Given the description of an element on the screen output the (x, y) to click on. 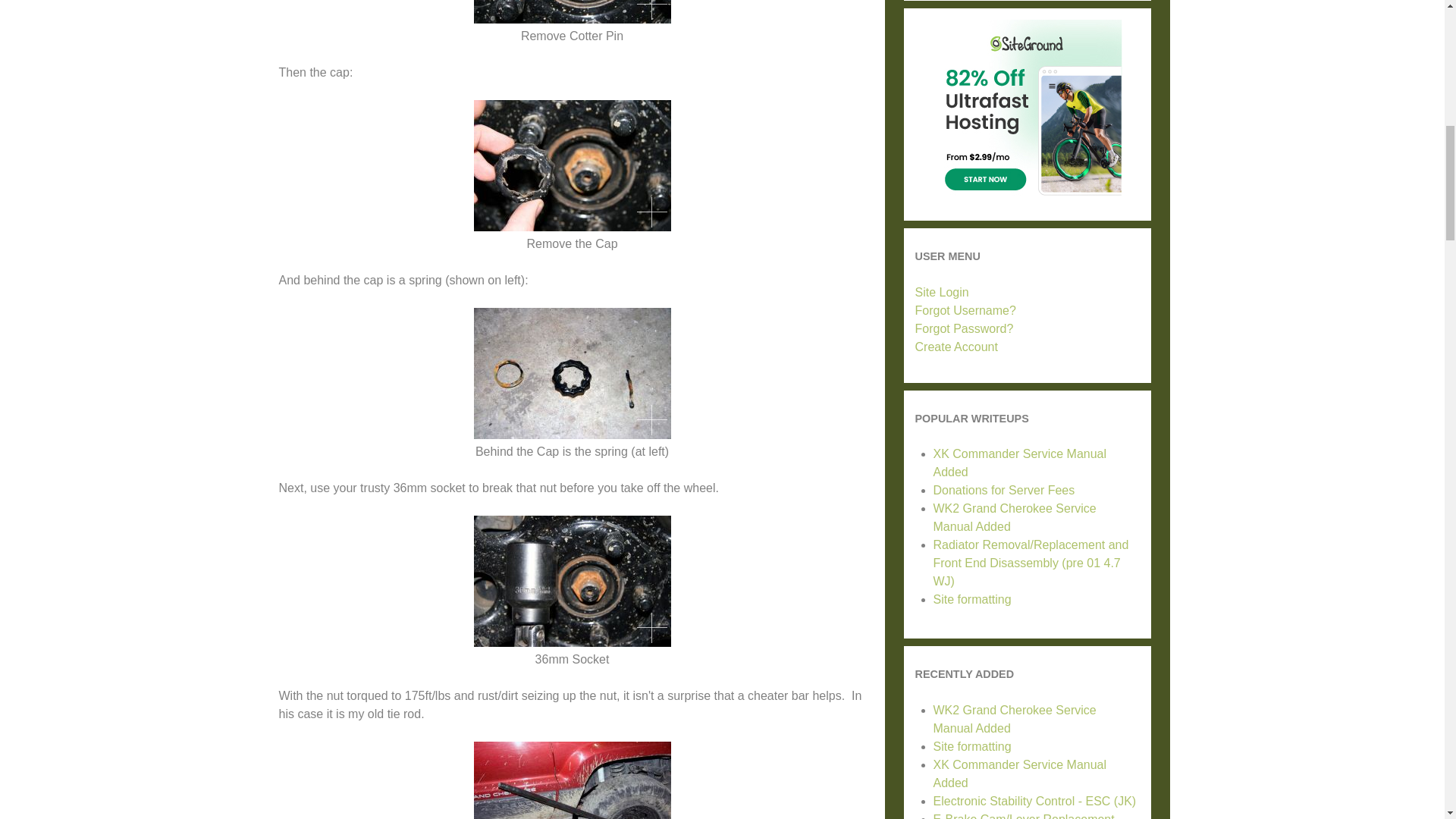
02 (571, 11)
04 (571, 372)
03 (571, 164)
06 (571, 780)
05 (571, 581)
